Given the description of an element on the screen output the (x, y) to click on. 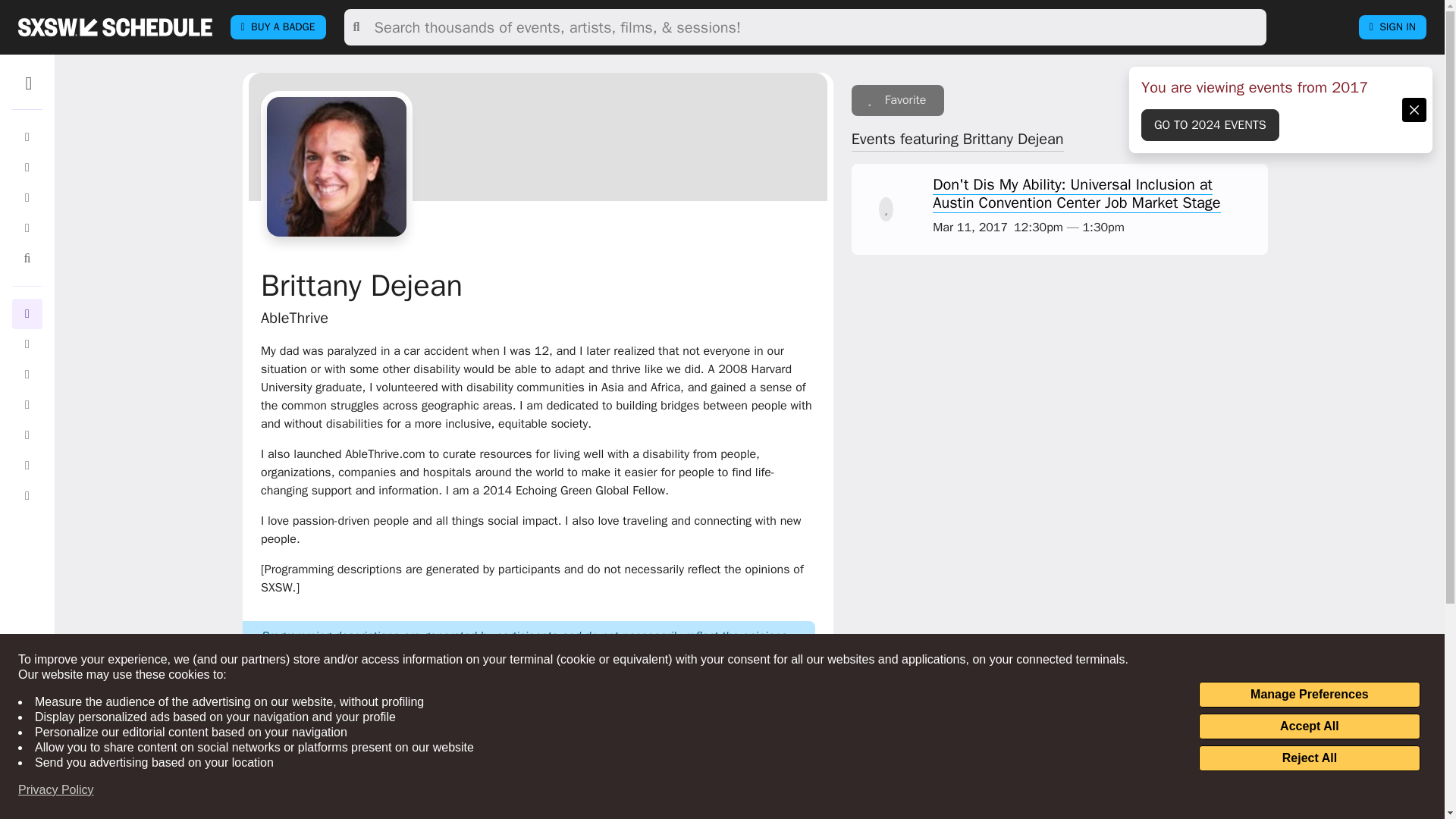
Accept All (1309, 726)
Manage Preferences (1309, 694)
Reject All (1309, 758)
sxsw SCHEDULE (114, 27)
BUY A BADGE (278, 27)
Privacy Policy (55, 789)
GO TO 2024 EVENTS (1210, 124)
SIGN IN (1392, 27)
Sign In to add to your favorites. (897, 100)
